Given the description of an element on the screen output the (x, y) to click on. 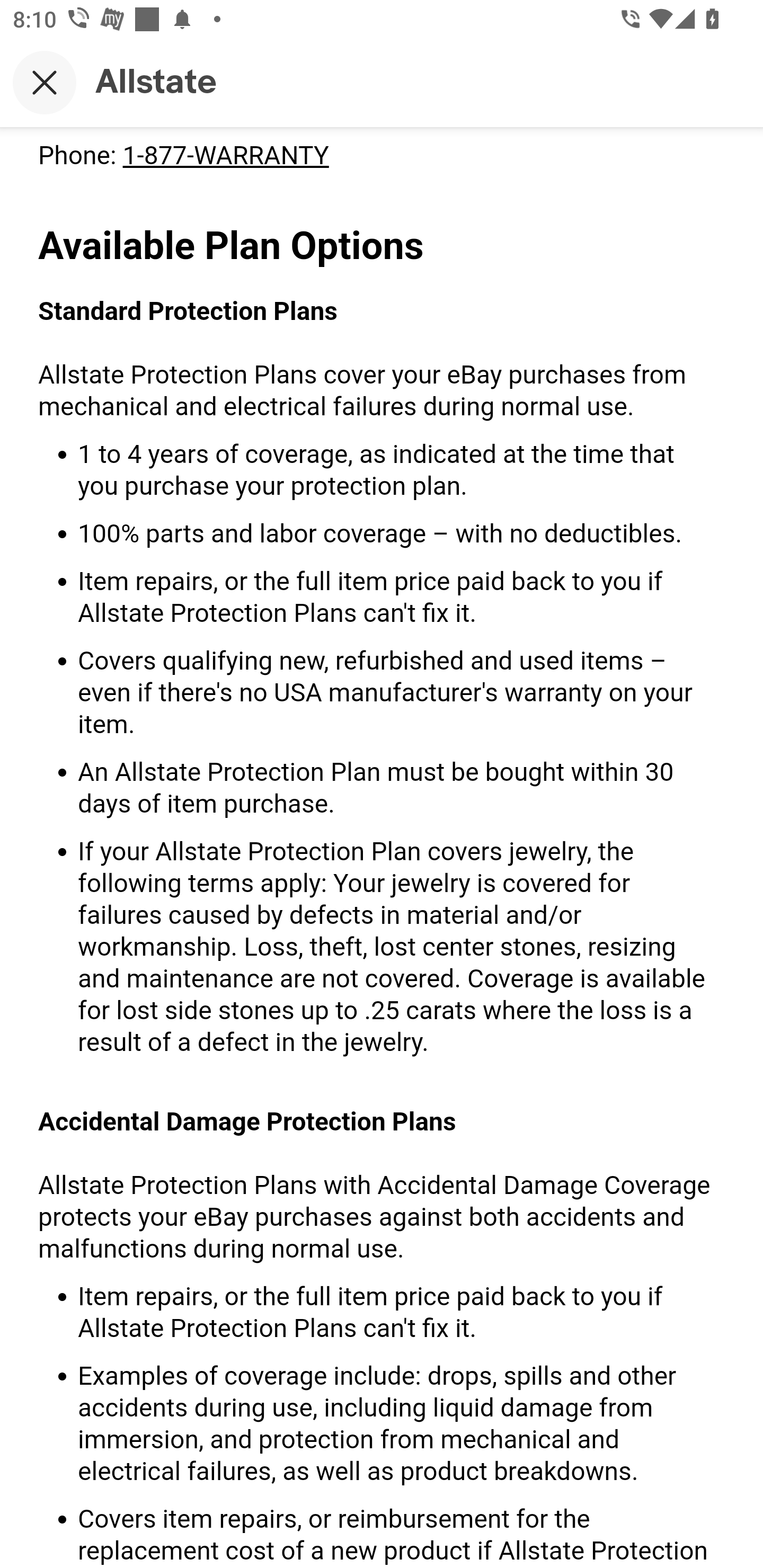
Close (44, 82)
1-877-WARRANTY (225, 154)
